Given the description of an element on the screen output the (x, y) to click on. 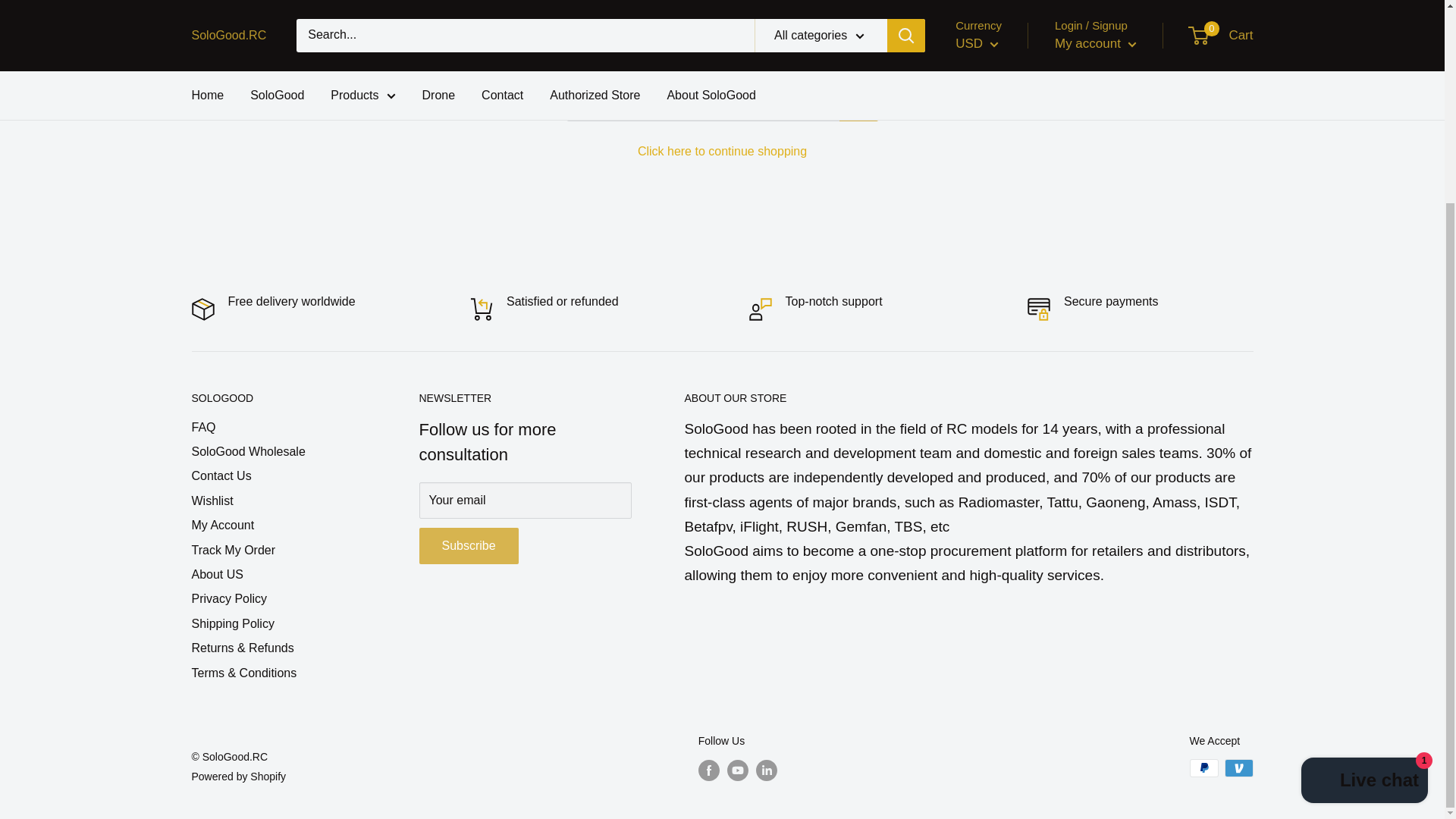
Shopify online store chat (1364, 522)
